Given the description of an element on the screen output the (x, y) to click on. 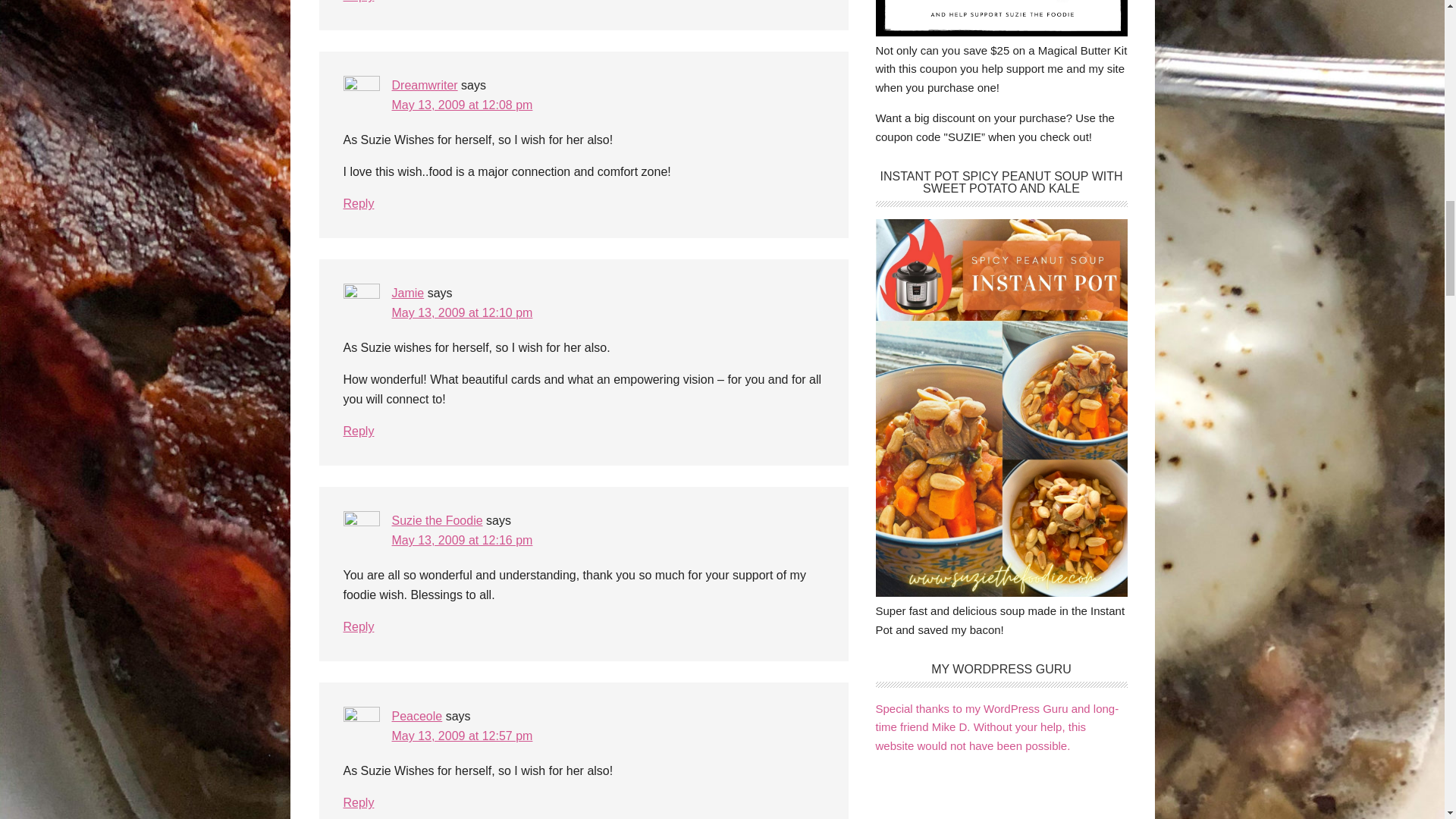
Instant Pot Spicy Peanut Soup with Sweet Potato And Kale (1000, 592)
Dreamwriter (424, 84)
May 13, 2009 at 12:08 pm (461, 104)
Reply (358, 1)
May 13, 2009 at 12:10 pm (461, 312)
Reply (358, 203)
Jamie (407, 292)
Reply (358, 431)
